Given the description of an element on the screen output the (x, y) to click on. 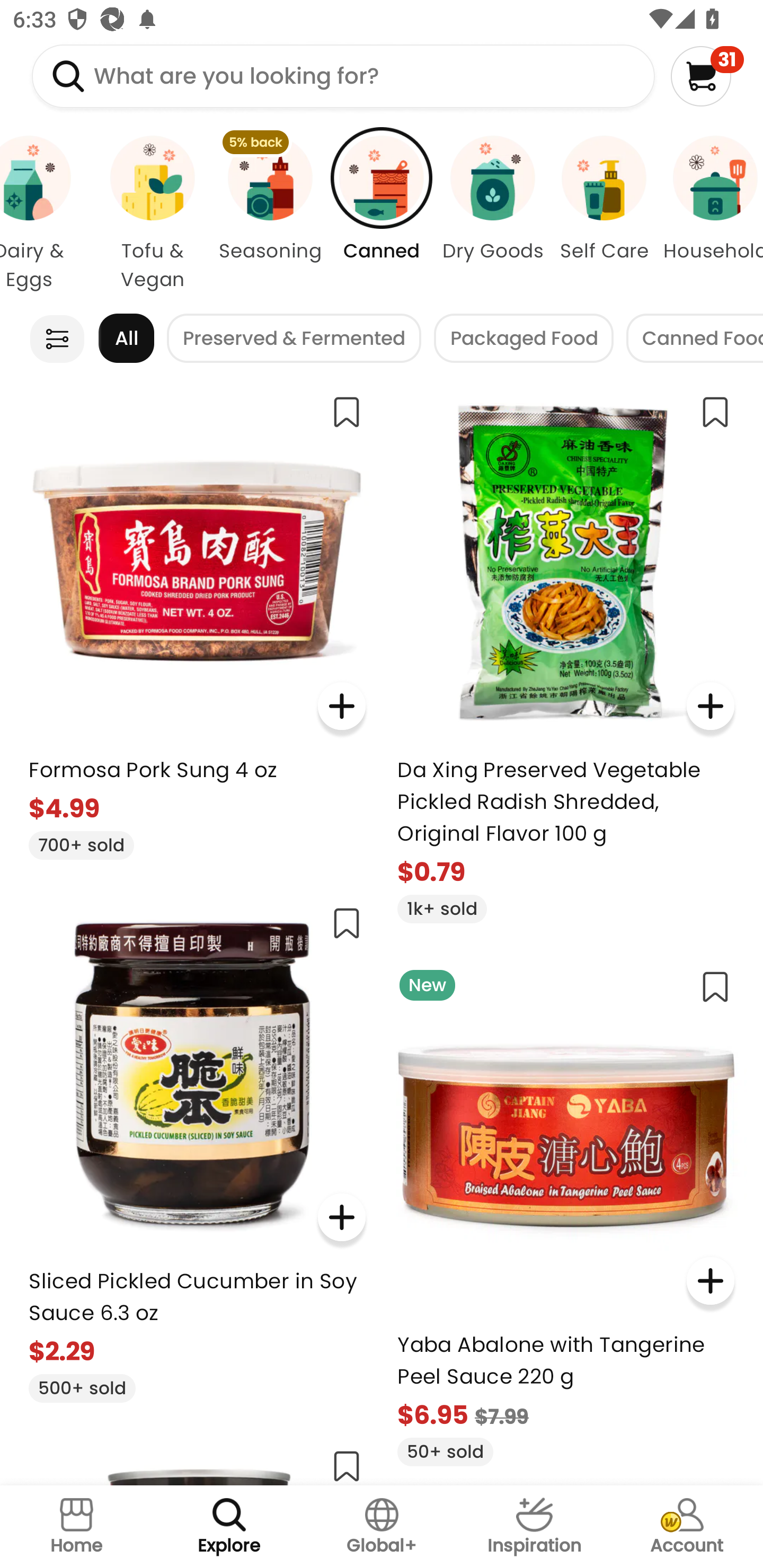
What are you looking for? (343, 75)
31 (706, 75)
Dairy & Eggs (45, 214)
Tofu & Vegan (152, 214)
5% back Seasoning (269, 214)
Canned (381, 214)
Dry Goods (492, 214)
Self Care (603, 214)
Household (711, 214)
All (126, 337)
Preserved & Fermented (294, 337)
Packaged Food (523, 337)
Canned Food (694, 337)
Formosa Pork Sung 4 oz $4.99 700+ sold (197, 620)
Home (76, 1526)
Explore (228, 1526)
Global+ (381, 1526)
Inspiration (533, 1526)
Account (686, 1526)
